Given the description of an element on the screen output the (x, y) to click on. 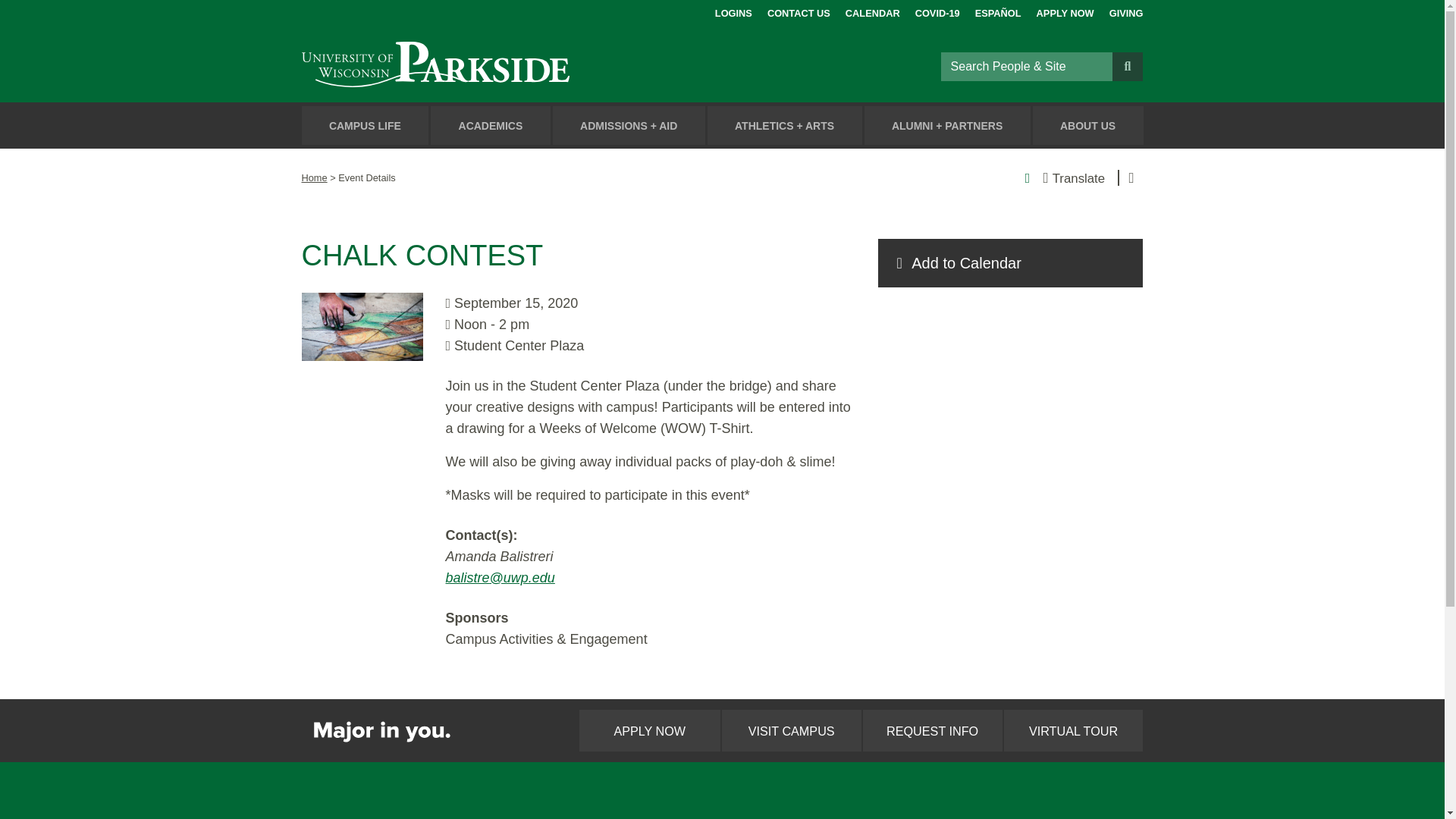
GIVING (1125, 11)
LOGINS (733, 11)
University of Wisconsin-Parkside (470, 66)
Submit (1127, 65)
CONTACT US (798, 11)
University of Wisconsin-Parkside (470, 66)
Skip to main content (18, 14)
APPLY NOW (1065, 11)
COVID-19 (937, 11)
Download as .ics (1009, 263)
